Given the description of an element on the screen output the (x, y) to click on. 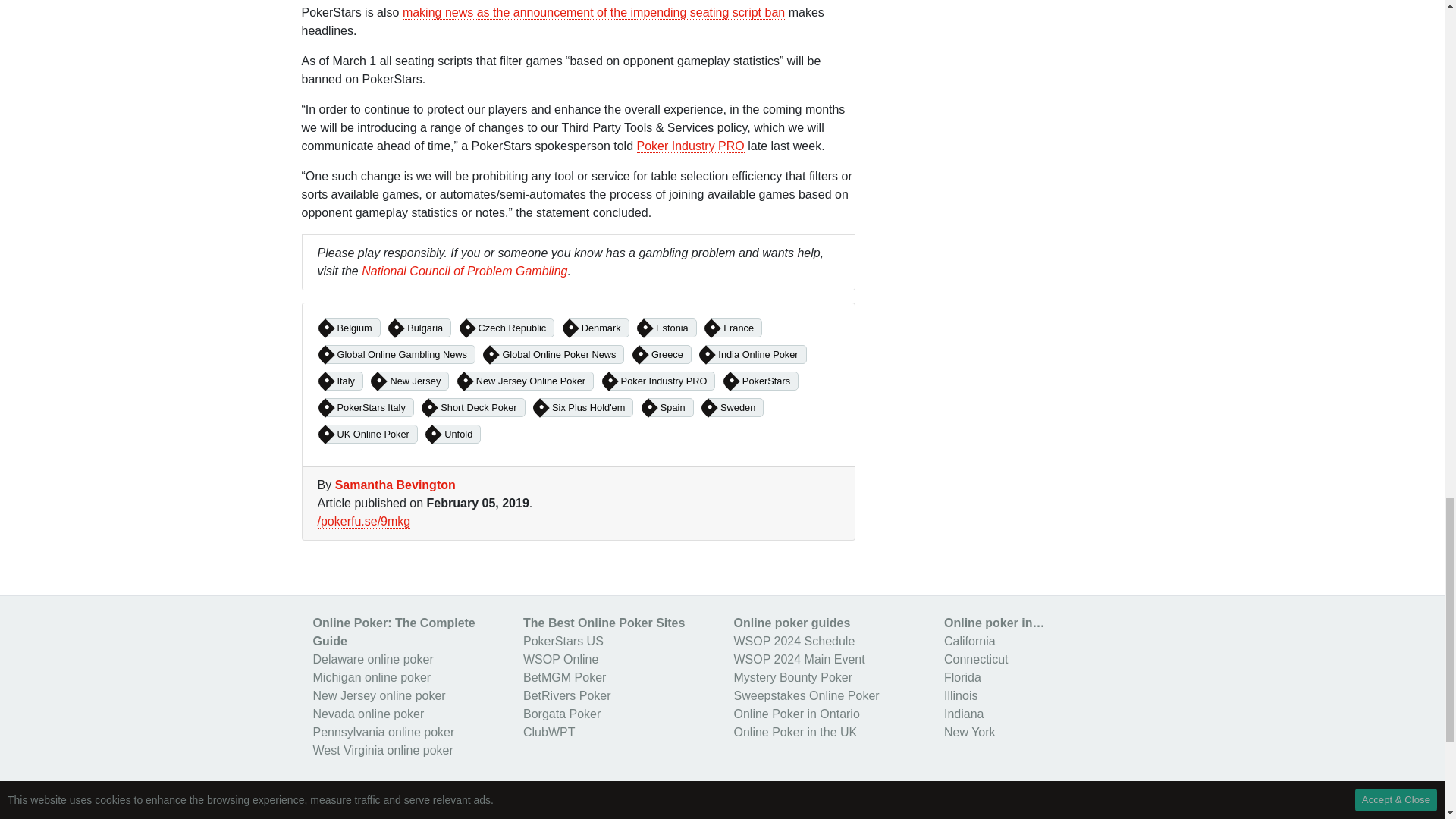
Exclusive: PokerStars to Ban Automated Seating Scripts (690, 146)
Seating Scripts Will No Longer be Allowed on PokerStars (593, 12)
2019-02-05T20:38:03Z (477, 502)
